Given the description of an element on the screen output the (x, y) to click on. 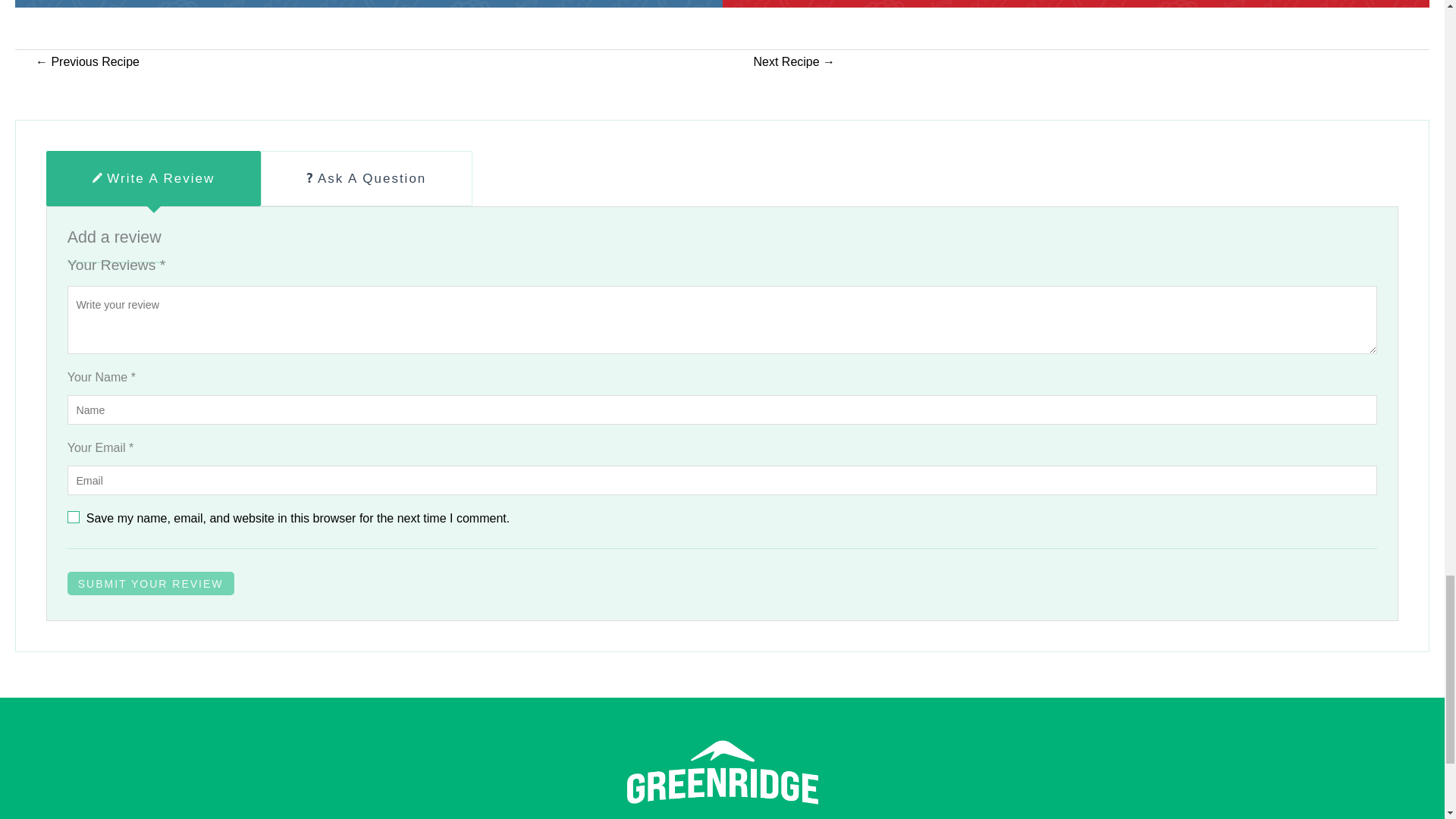
Guacamole Hot Dogs (87, 61)
Submit Your Review (150, 583)
Sausage and Kale Grilled Cheese (794, 61)
